Given the description of an element on the screen output the (x, y) to click on. 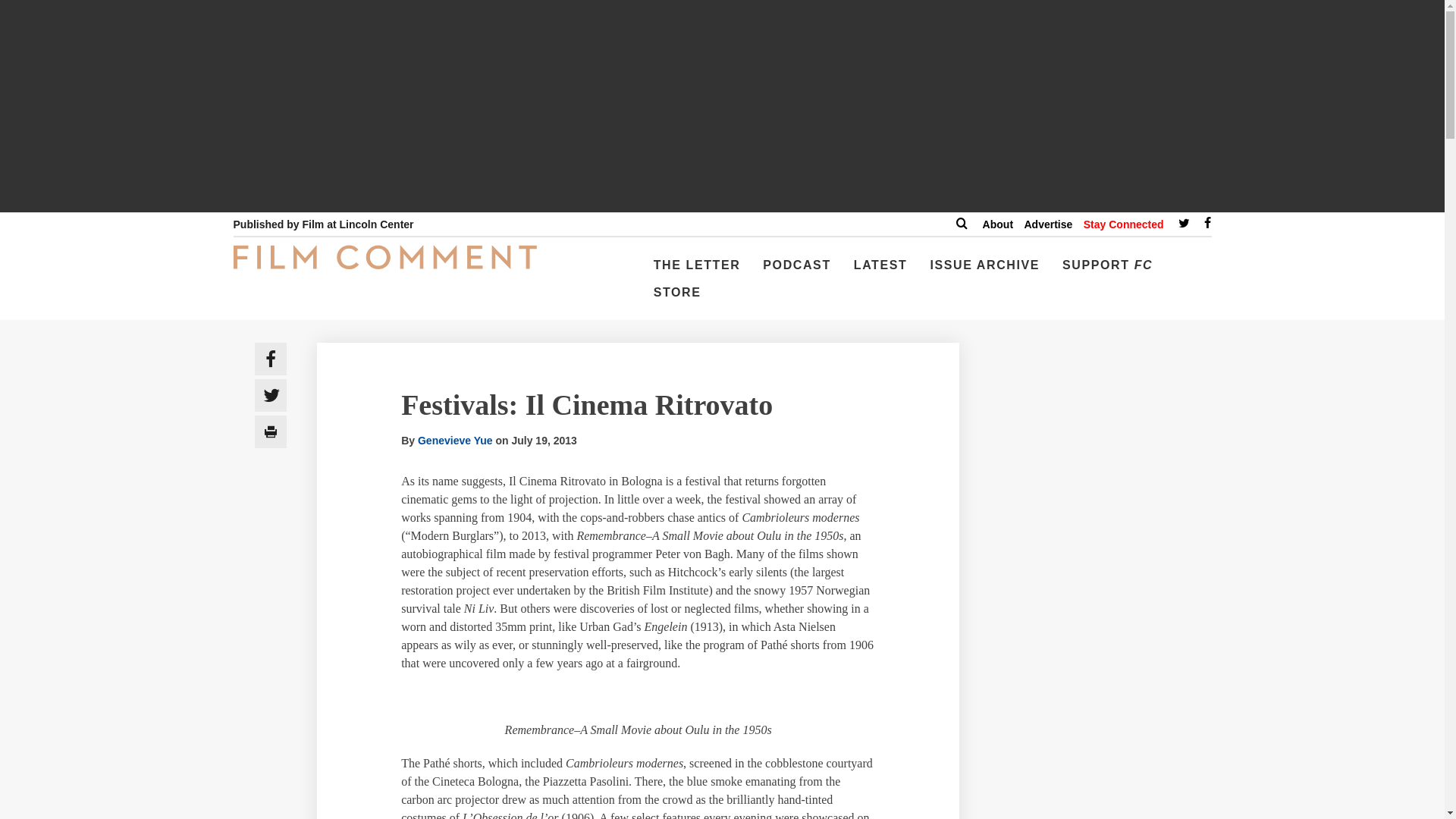
Published by Film at Lincoln Center (322, 224)
SUPPORT FC (1107, 271)
3rd party ad content (1103, 642)
Genevieve Yue (455, 440)
ISSUE ARCHIVE (983, 271)
PODCAST (796, 271)
THE LETTER (697, 271)
STORE (677, 298)
3rd party ad content (1103, 785)
